Given the description of an element on the screen output the (x, y) to click on. 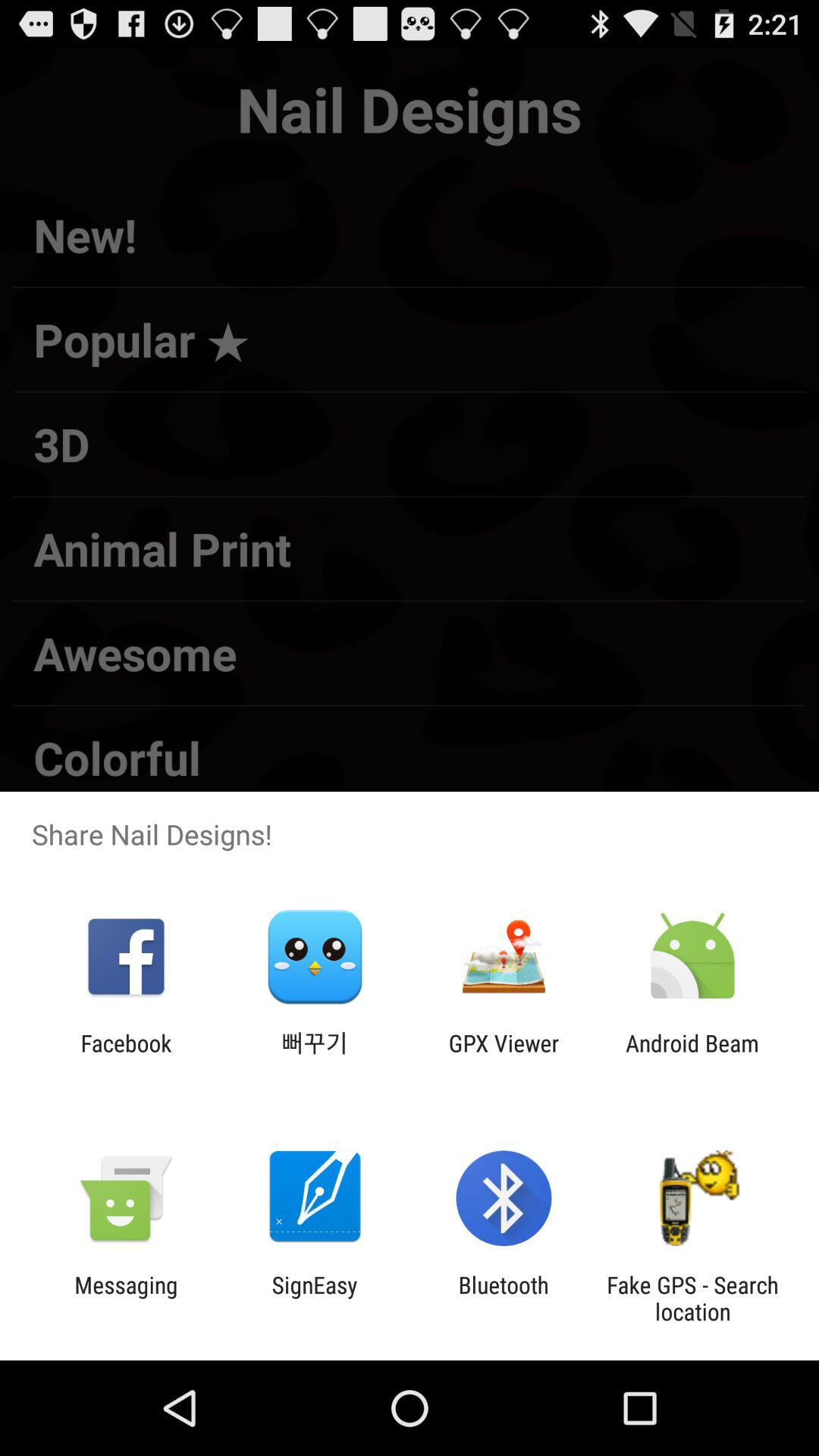
press facebook item (125, 1056)
